Given the description of an element on the screen output the (x, y) to click on. 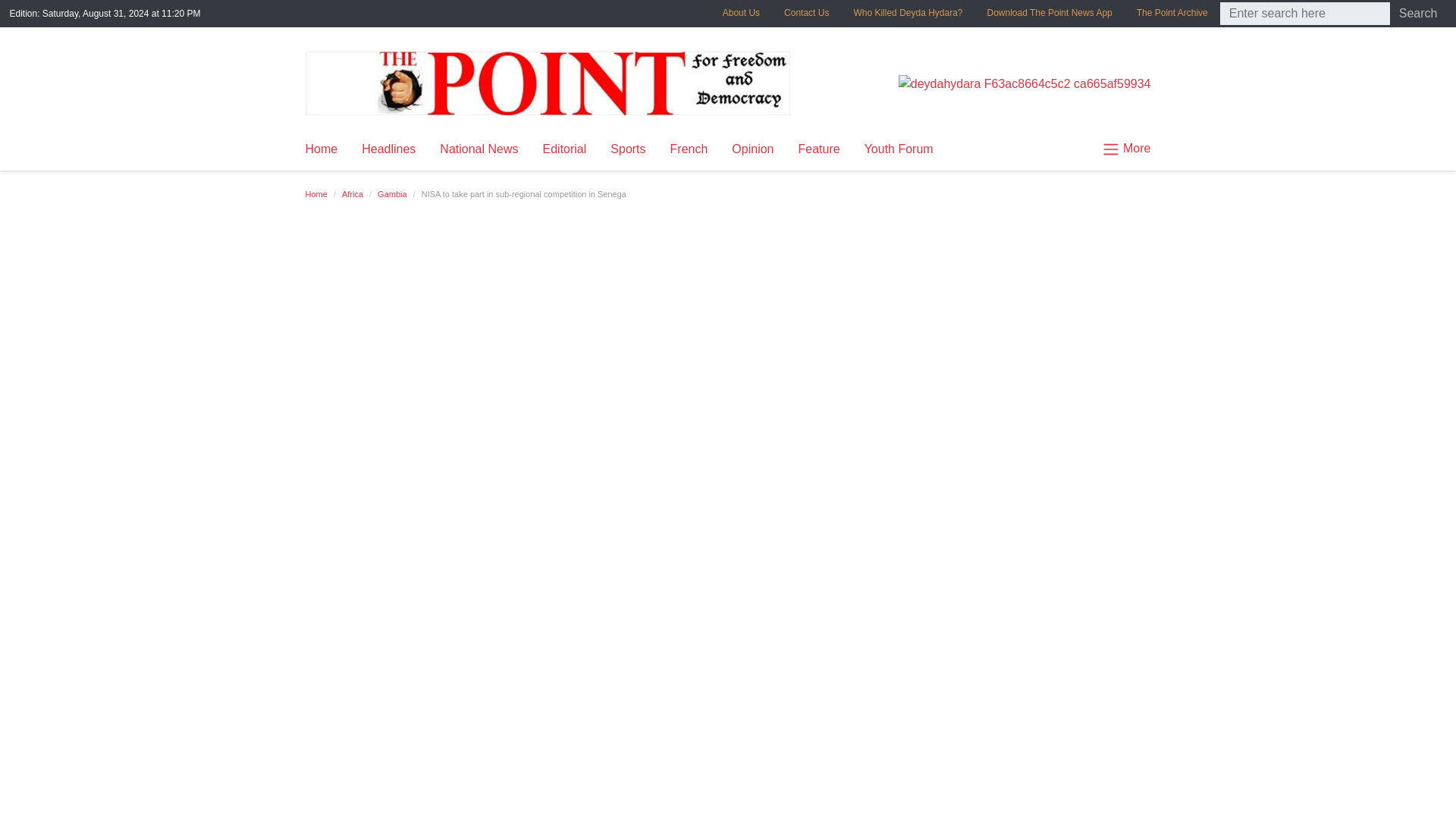
Africa (352, 194)
French (689, 149)
Home (326, 149)
Contact Us (806, 12)
Sports (628, 149)
Editorial (564, 149)
Youth Forum (897, 149)
More (1120, 148)
National News (478, 149)
Opinion (752, 149)
